Given the description of an element on the screen output the (x, y) to click on. 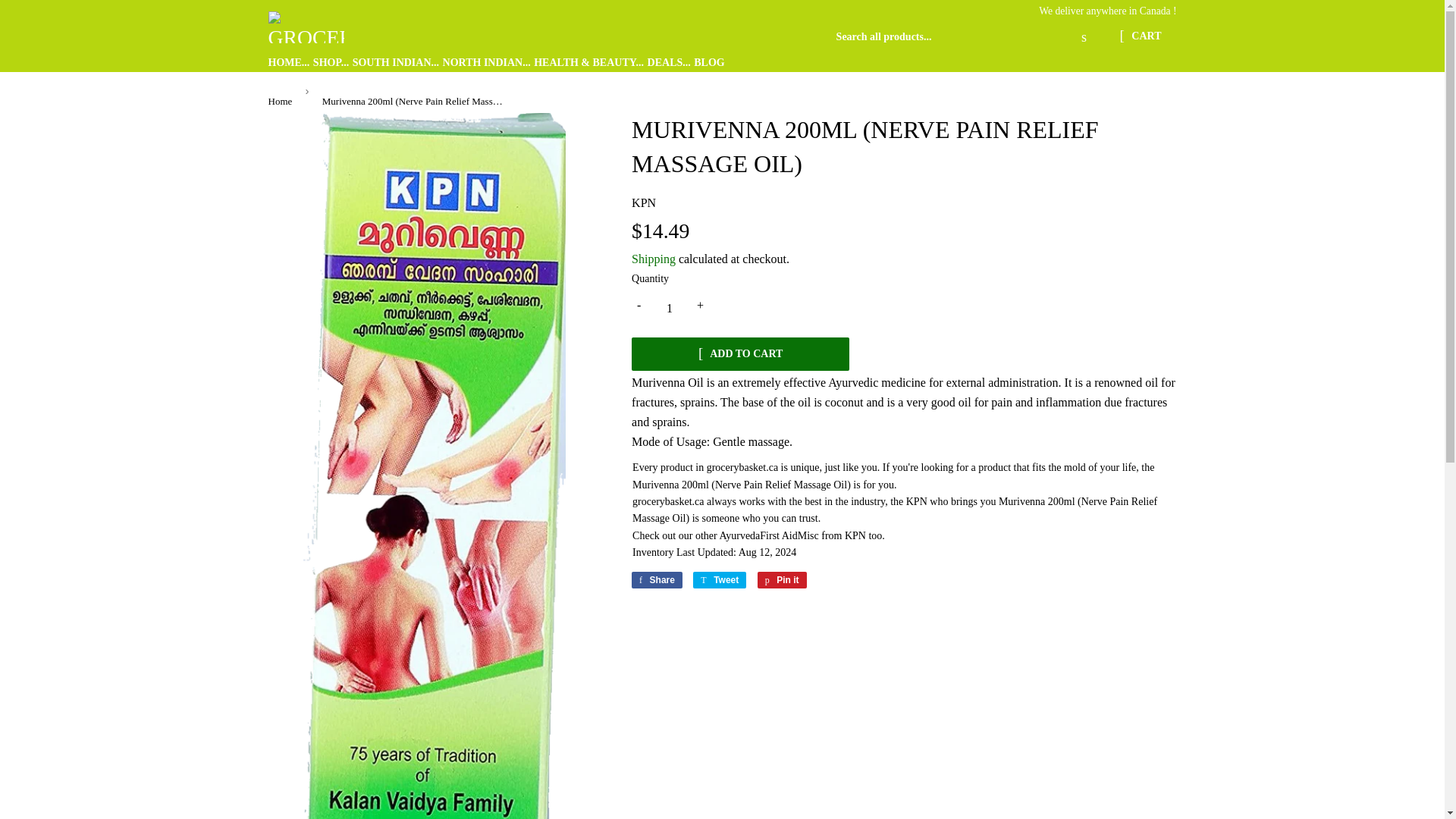
Search (781, 579)
Home (1083, 38)
SOUTH INDIAN... (282, 102)
NORTH INDIAN... (395, 63)
Tweet on Twitter (486, 63)
CART (719, 579)
DEALS... (1139, 37)
Pin on Pinterest (668, 63)
Shipping (781, 579)
